Given the description of an element on the screen output the (x, y) to click on. 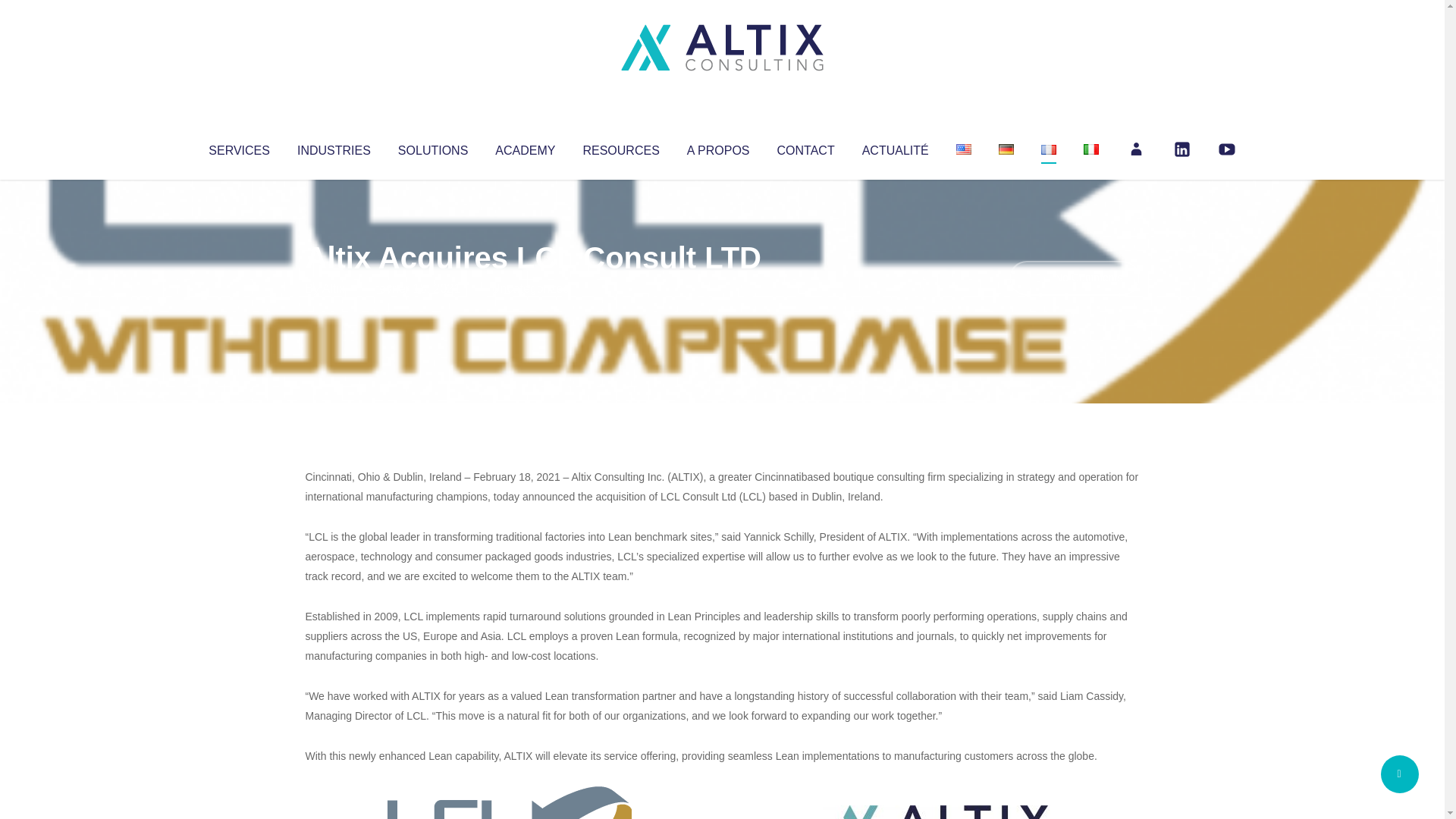
Altix (333, 287)
SERVICES (238, 146)
Uncategorized (530, 287)
Articles par Altix (333, 287)
ACADEMY (524, 146)
RESOURCES (620, 146)
A PROPOS (718, 146)
INDUSTRIES (334, 146)
No Comments (1073, 278)
SOLUTIONS (432, 146)
